Given the description of an element on the screen output the (x, y) to click on. 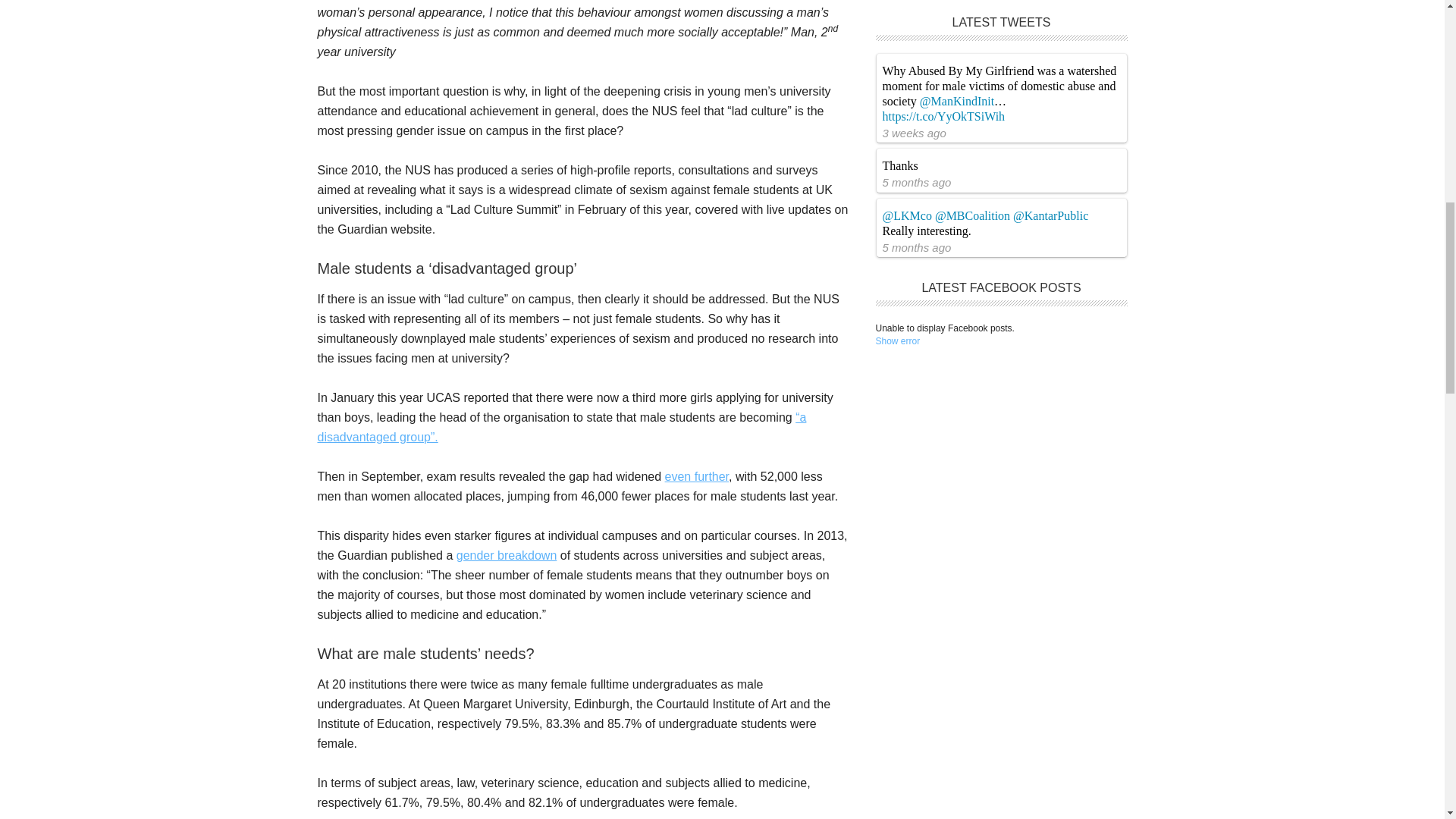
gender breakdown (507, 554)
5 months ago (917, 182)
3 weeks ago (914, 132)
even further (697, 476)
